Given the description of an element on the screen output the (x, y) to click on. 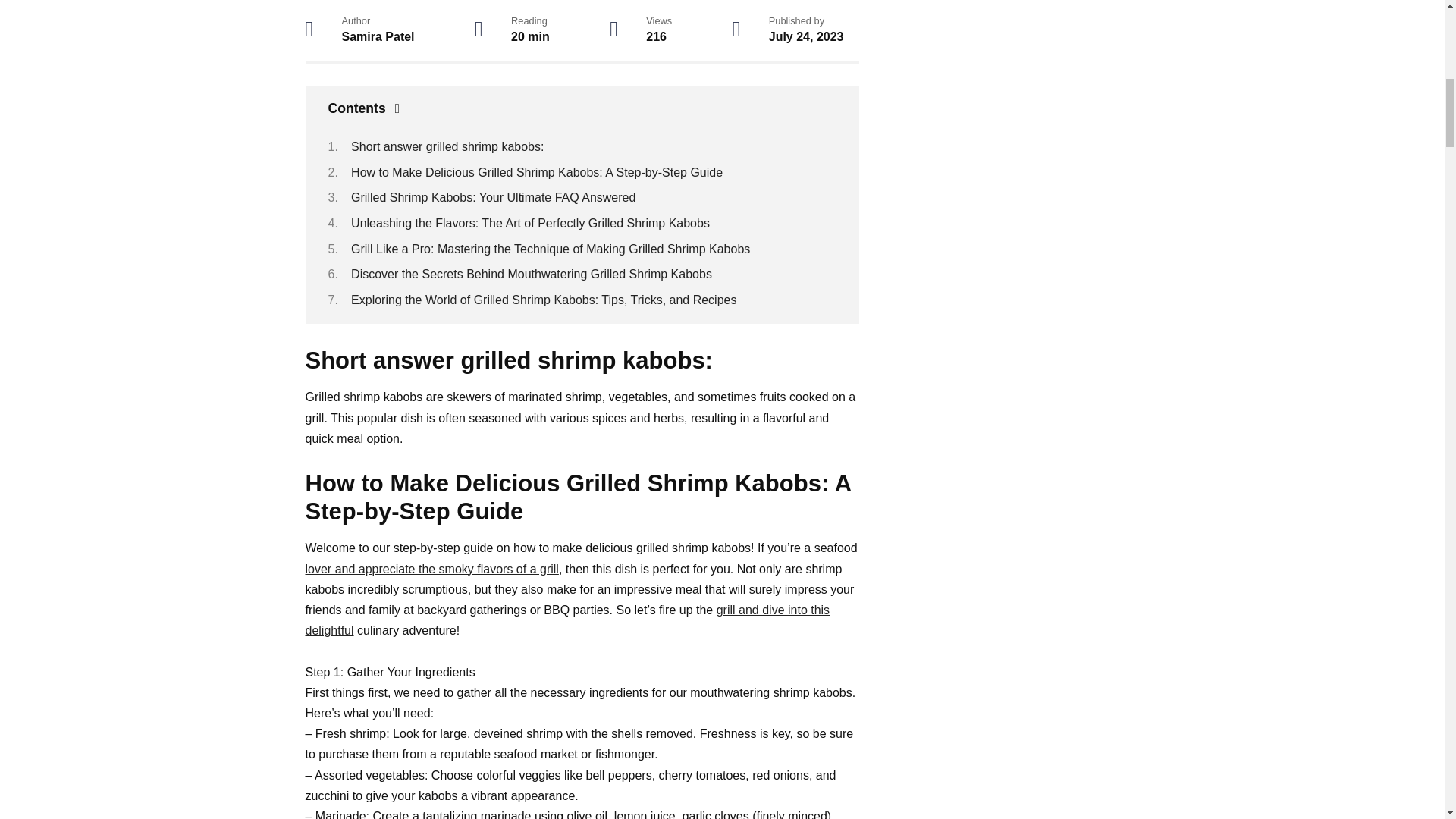
lover and appreciate the smoky flavors of a grill (430, 568)
grill and dive into this delightful (566, 620)
Short answer grilled shrimp kabobs: (446, 146)
Grilled Shrimp Kabobs: Your Ultimate FAQ Answered (492, 196)
